Given the description of an element on the screen output the (x, y) to click on. 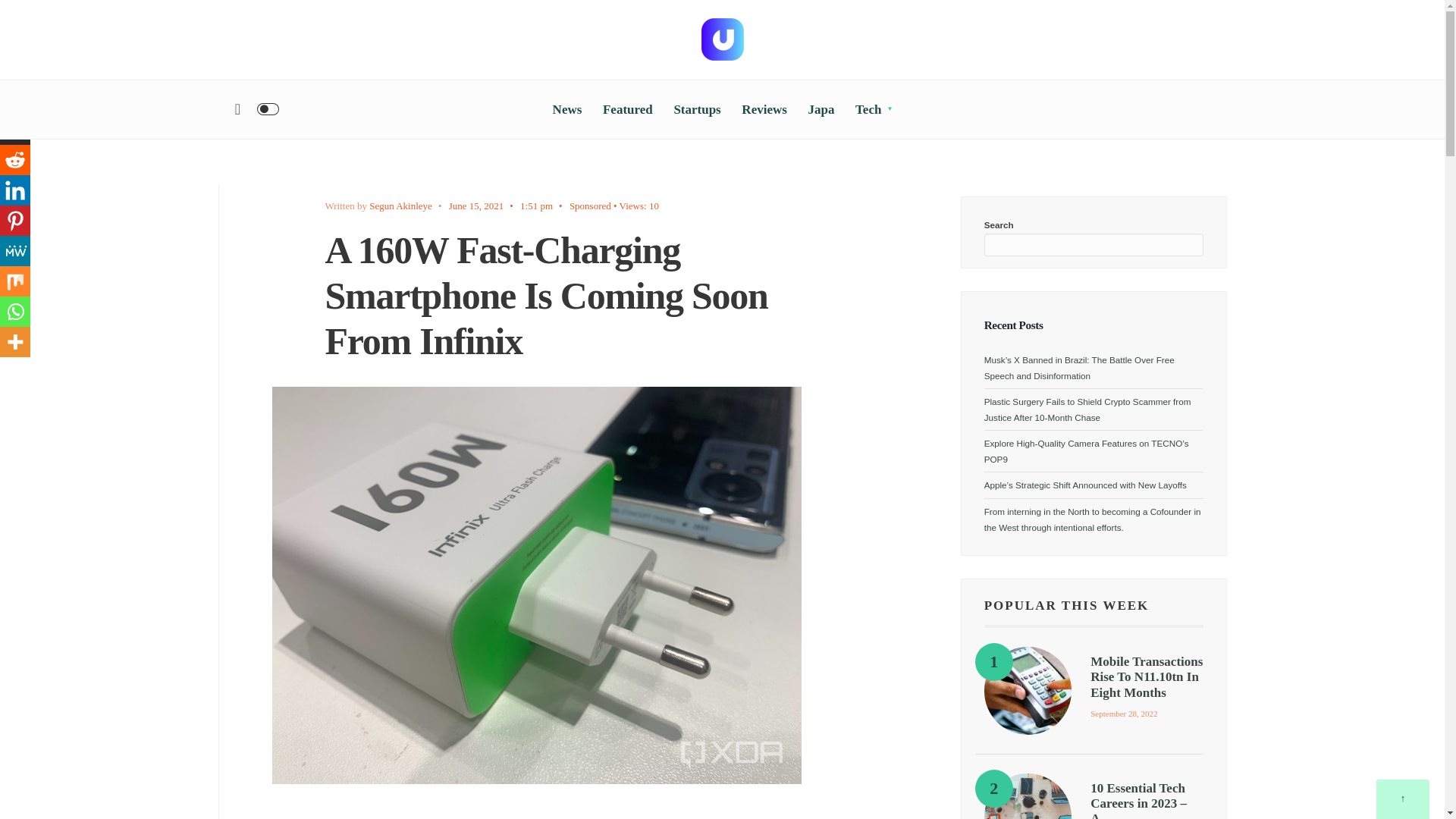
Tech (873, 109)
Facebook (15, 99)
Reviews (763, 109)
Segun Akinleye (400, 205)
Sponsored (590, 205)
Startups (696, 109)
Featured (627, 109)
Posts by Segun Akinleye (400, 205)
X (15, 129)
